Given the description of an element on the screen output the (x, y) to click on. 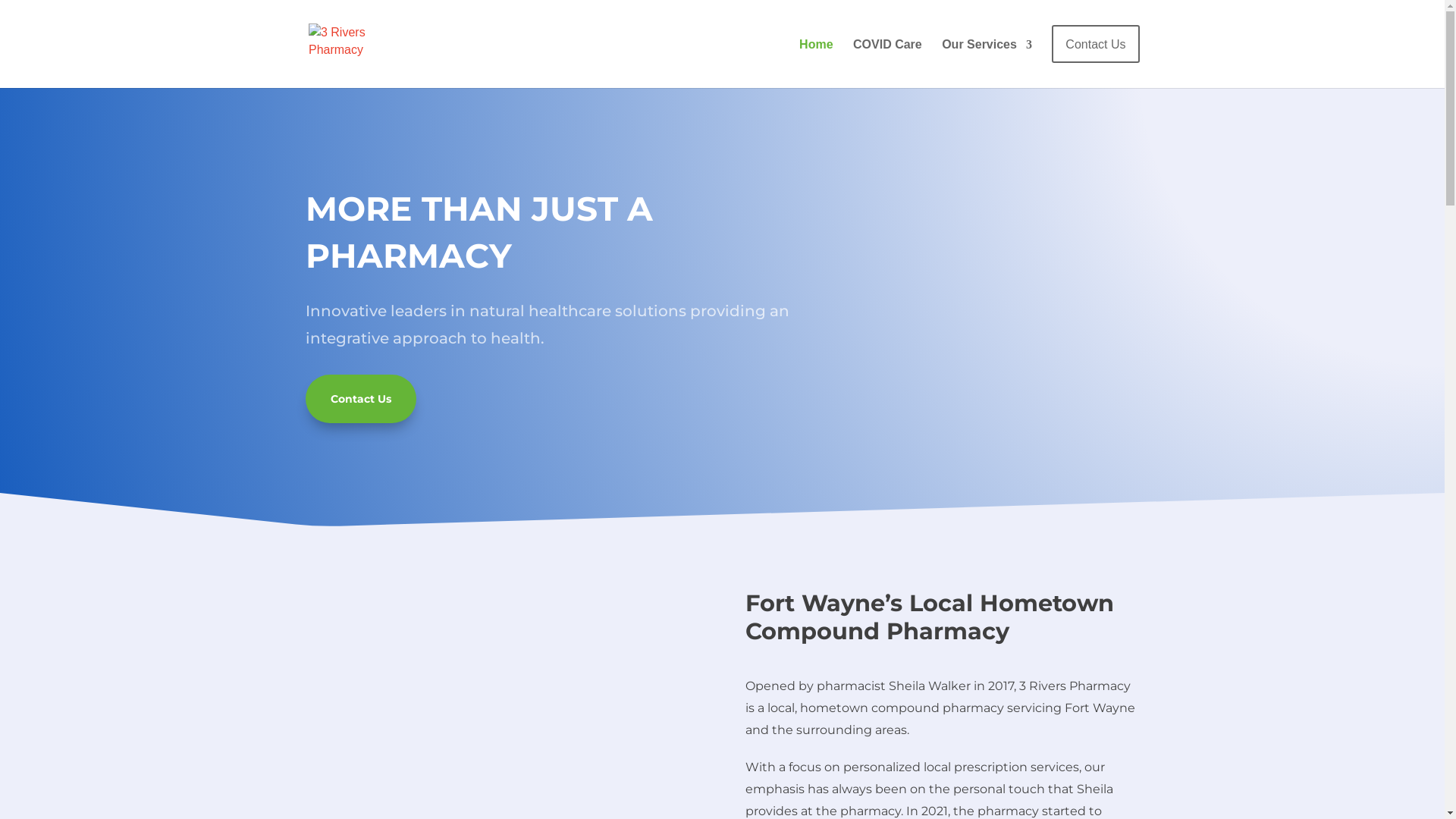
COVID Care Element type: text (887, 57)
Our Services Element type: text (986, 57)
Contact Us Element type: text (1095, 56)
Home Element type: text (815, 57)
Contact Us Element type: text (359, 398)
